Given the description of an element on the screen output the (x, y) to click on. 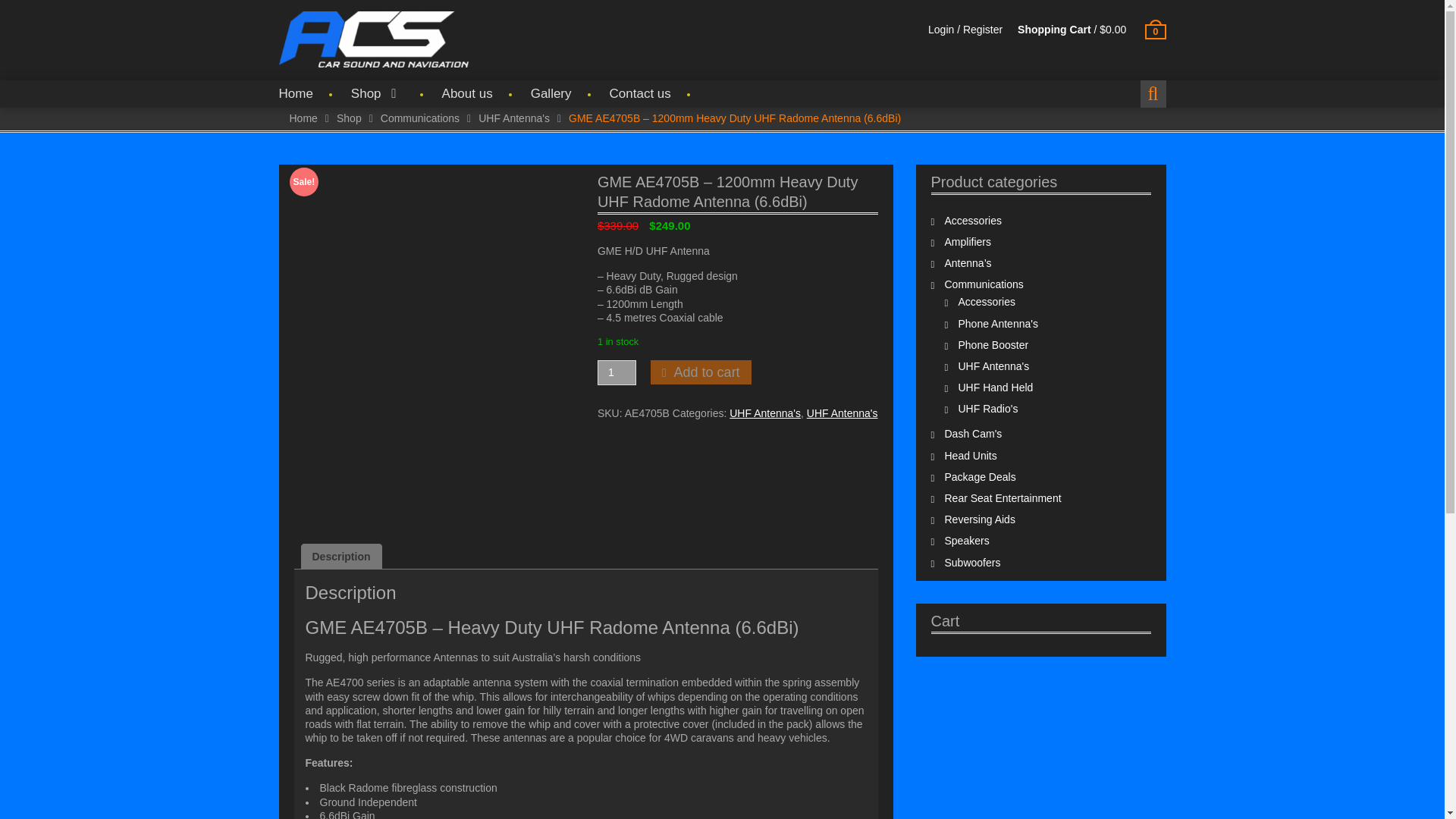
Home (296, 93)
Gallery (551, 93)
About us (467, 93)
Home (303, 118)
Contact us (640, 93)
1 (616, 372)
Shop (377, 93)
